Given the description of an element on the screen output the (x, y) to click on. 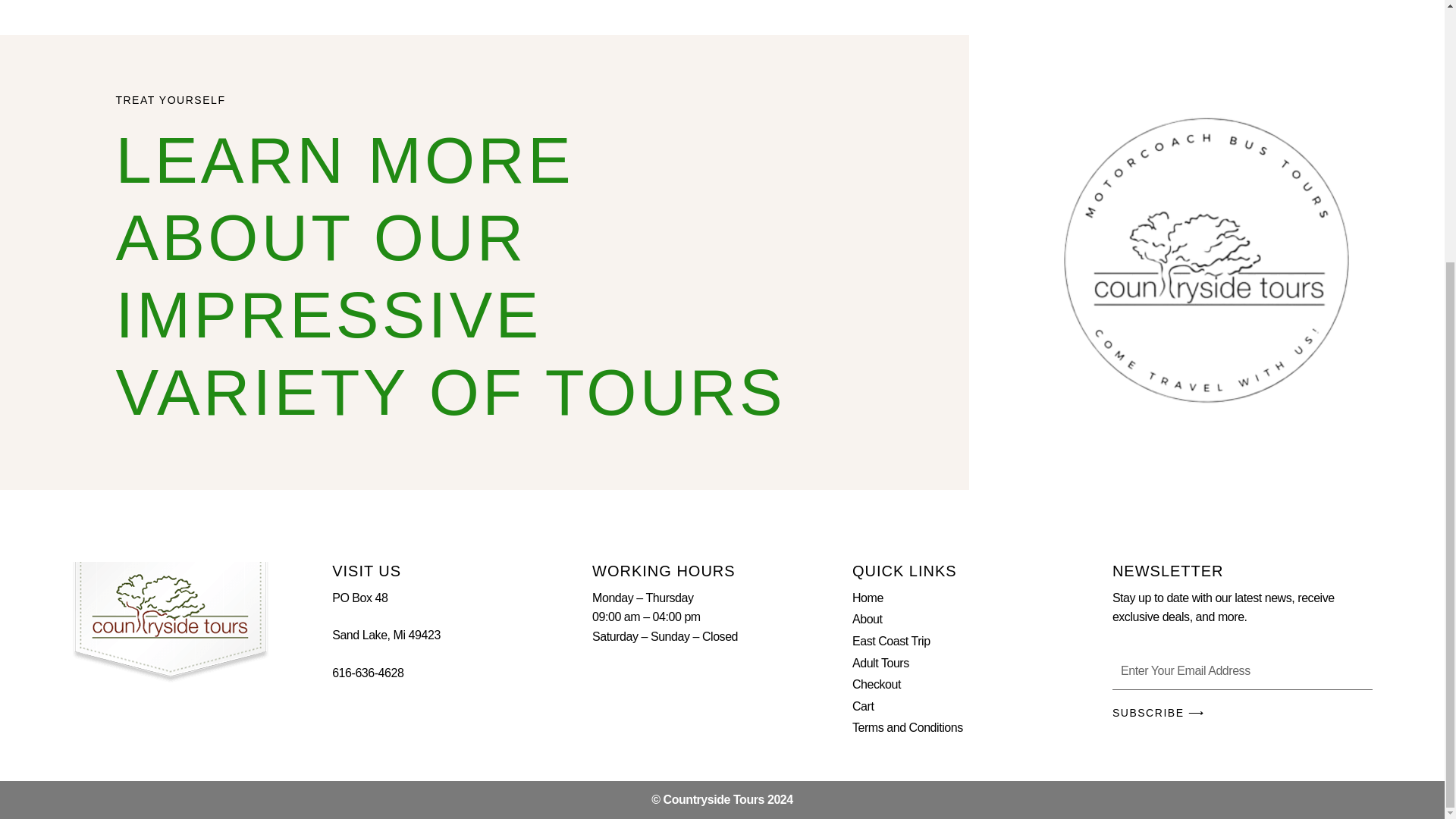
Checkout (981, 684)
Cart (981, 706)
East Coast Trip (981, 641)
Adult Tours (981, 663)
About (981, 619)
Home (981, 598)
Terms and Conditions (981, 727)
